Given the description of an element on the screen output the (x, y) to click on. 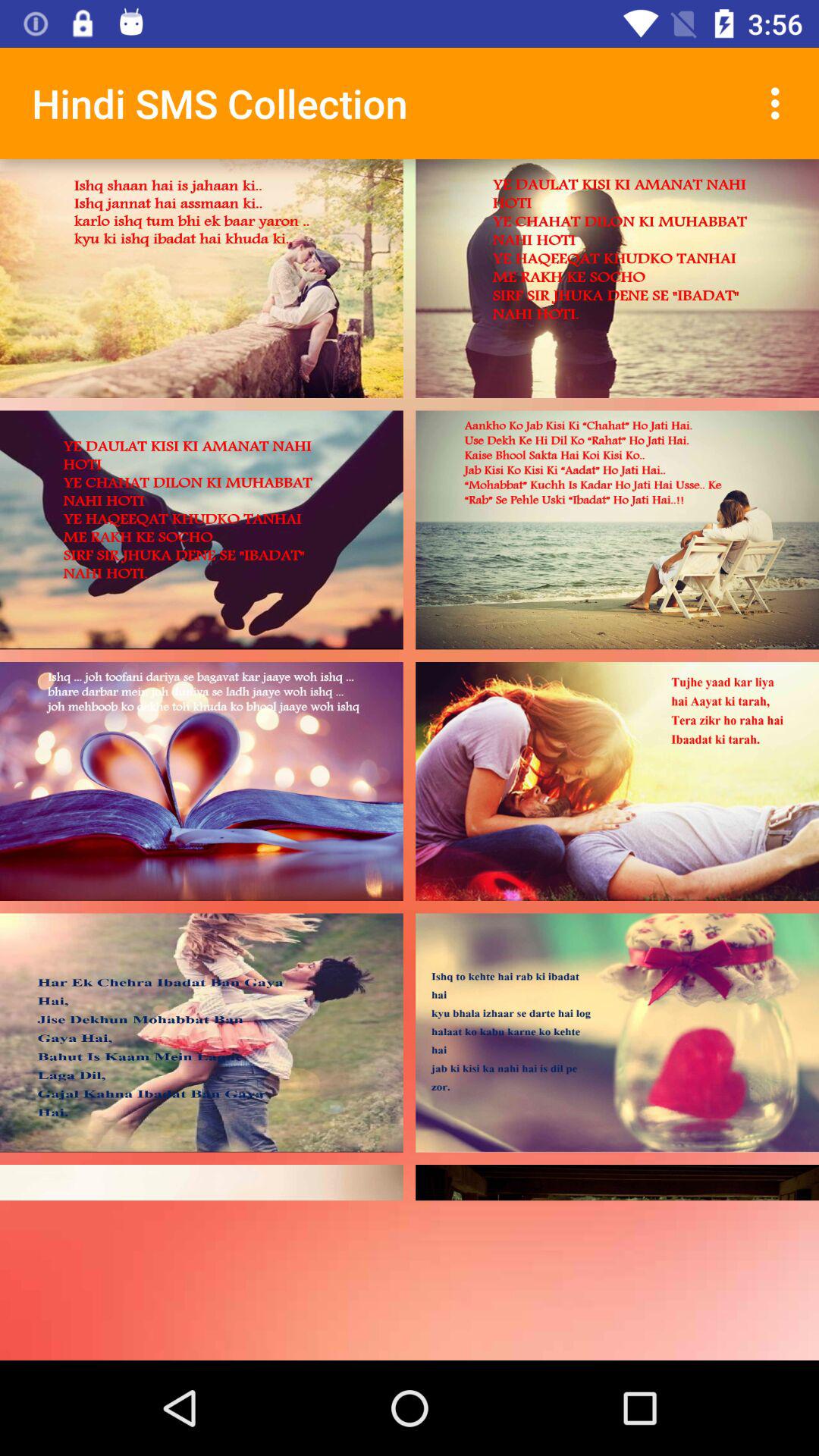
tap the icon next to hindi sms collection app (779, 103)
